Given the description of an element on the screen output the (x, y) to click on. 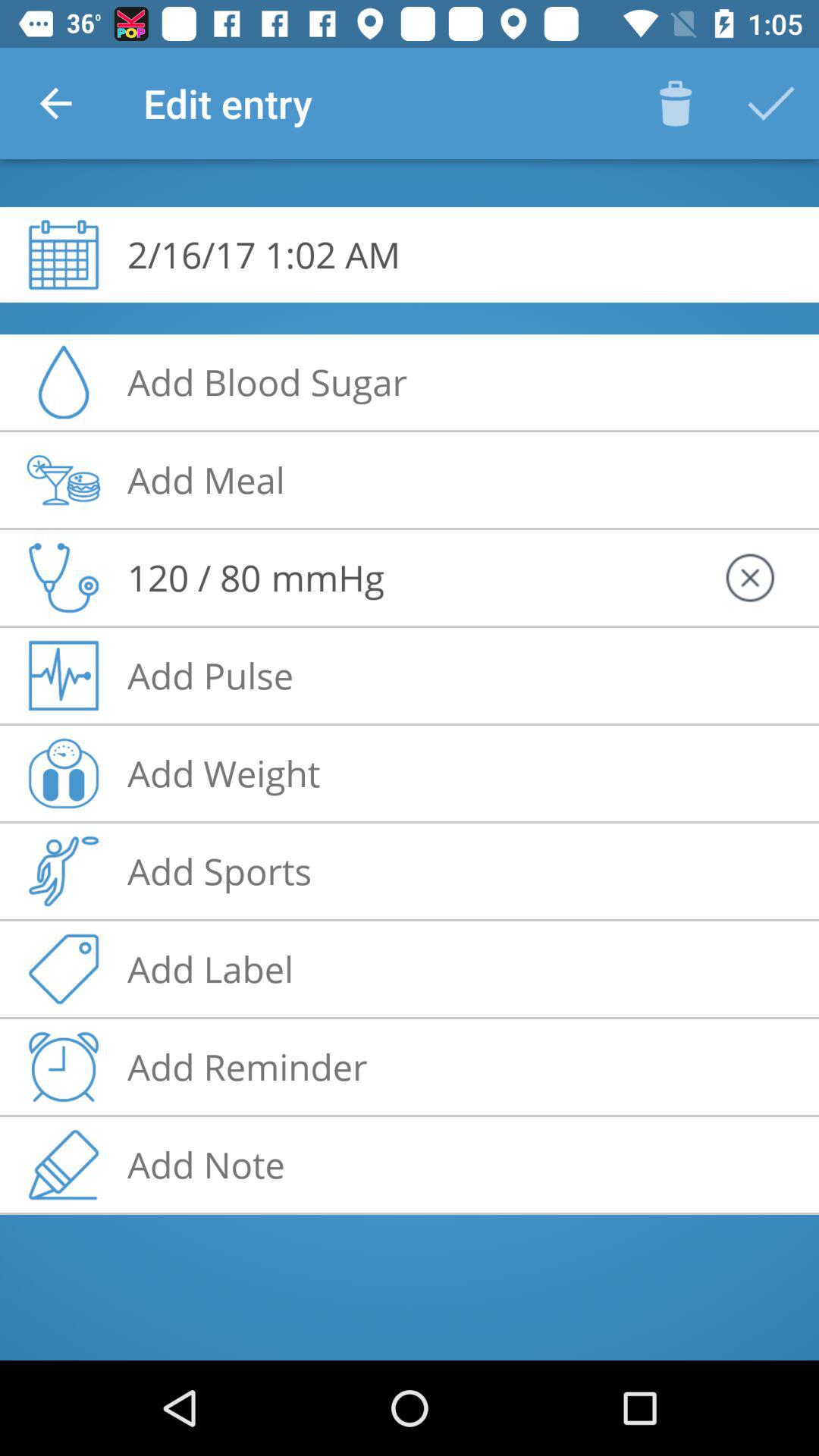
tap the 120 / 80 icon (194, 577)
